Given the description of an element on the screen output the (x, y) to click on. 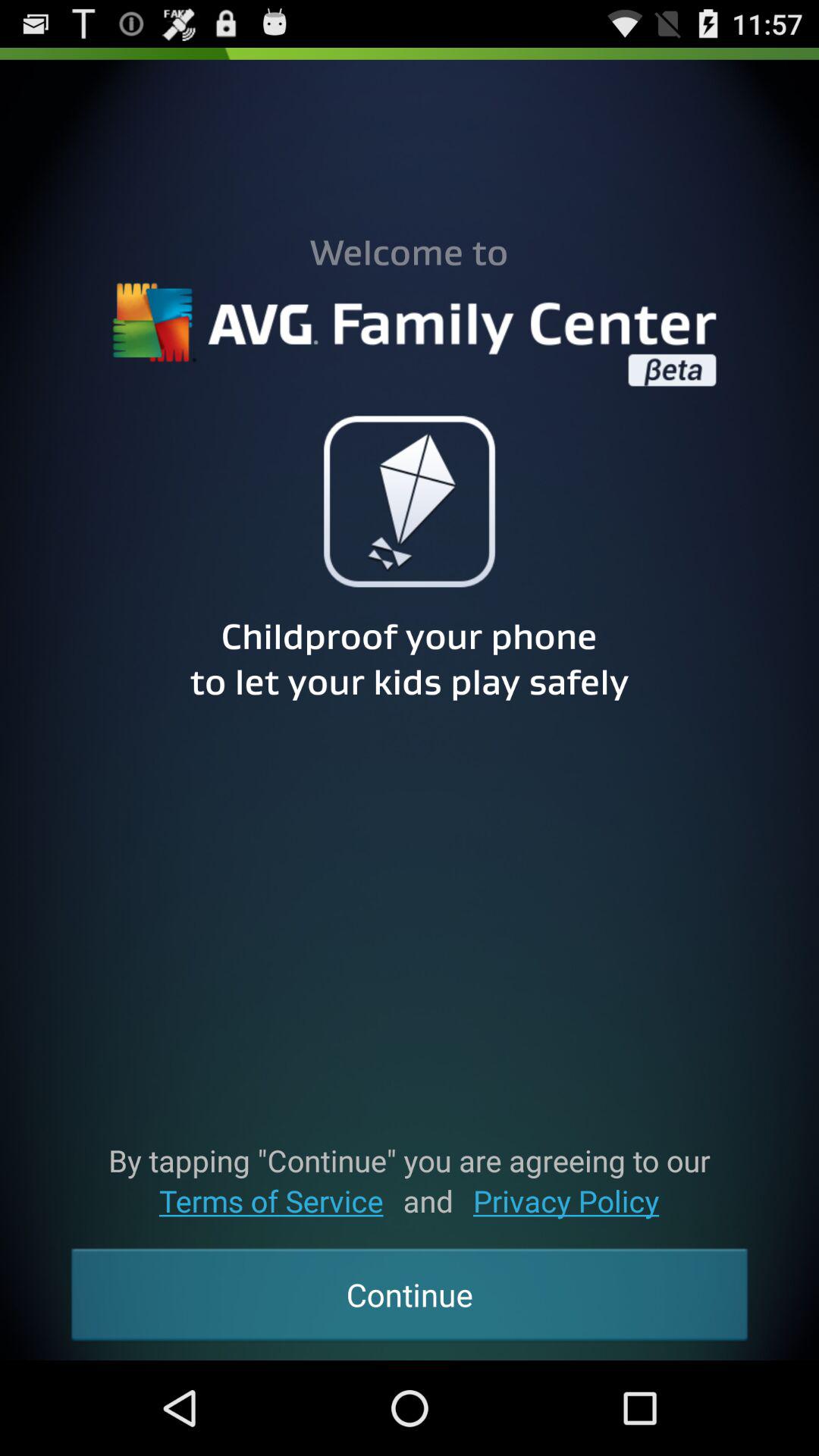
flip until the terms of service (271, 1200)
